Given the description of an element on the screen output the (x, y) to click on. 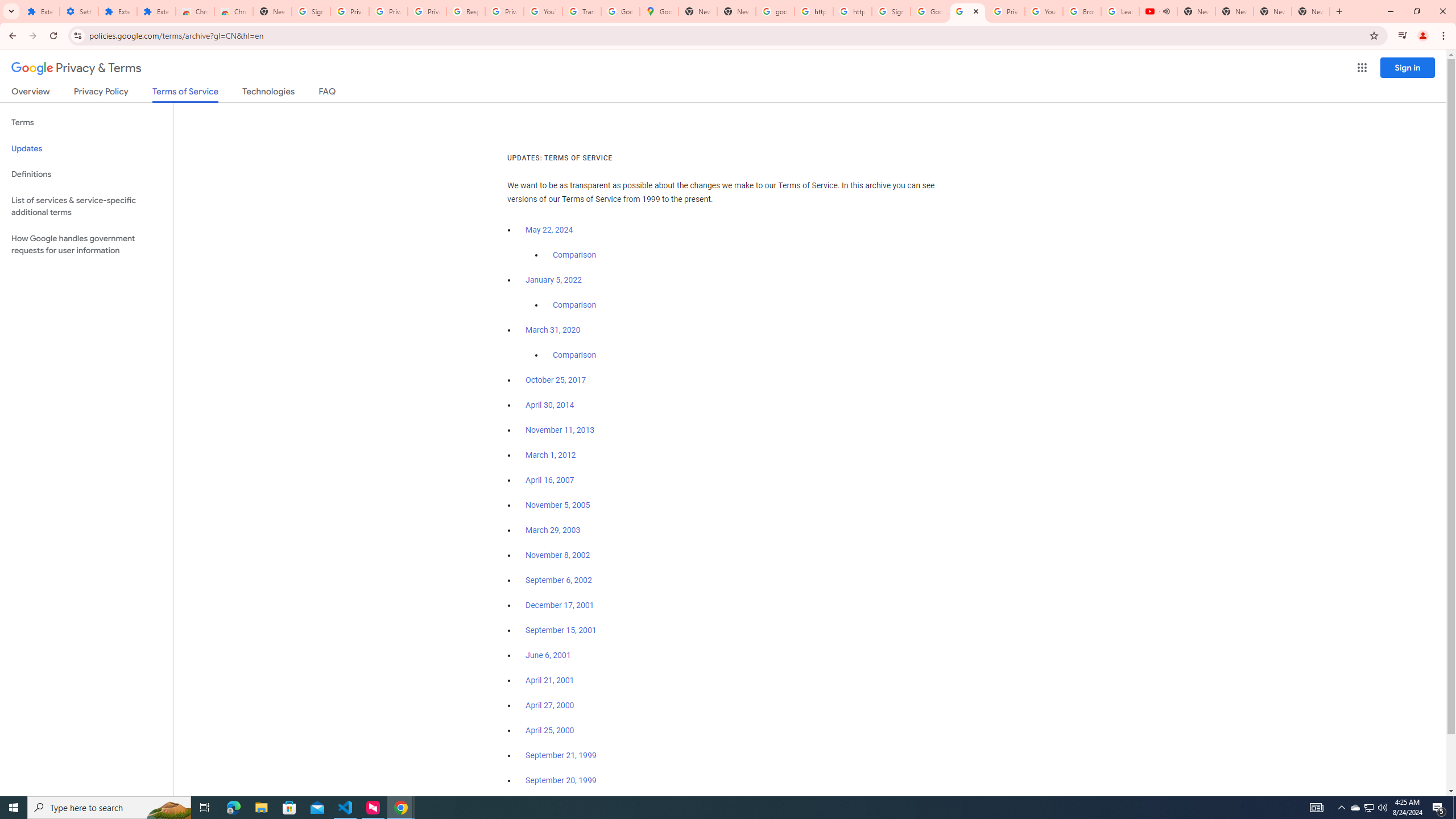
Mute tab (1165, 10)
Extensions (40, 11)
Definitions (86, 174)
April 27, 2000 (550, 705)
Settings (79, 11)
November 5, 2005 (557, 505)
Extensions (156, 11)
